Given the description of an element on the screen output the (x, y) to click on. 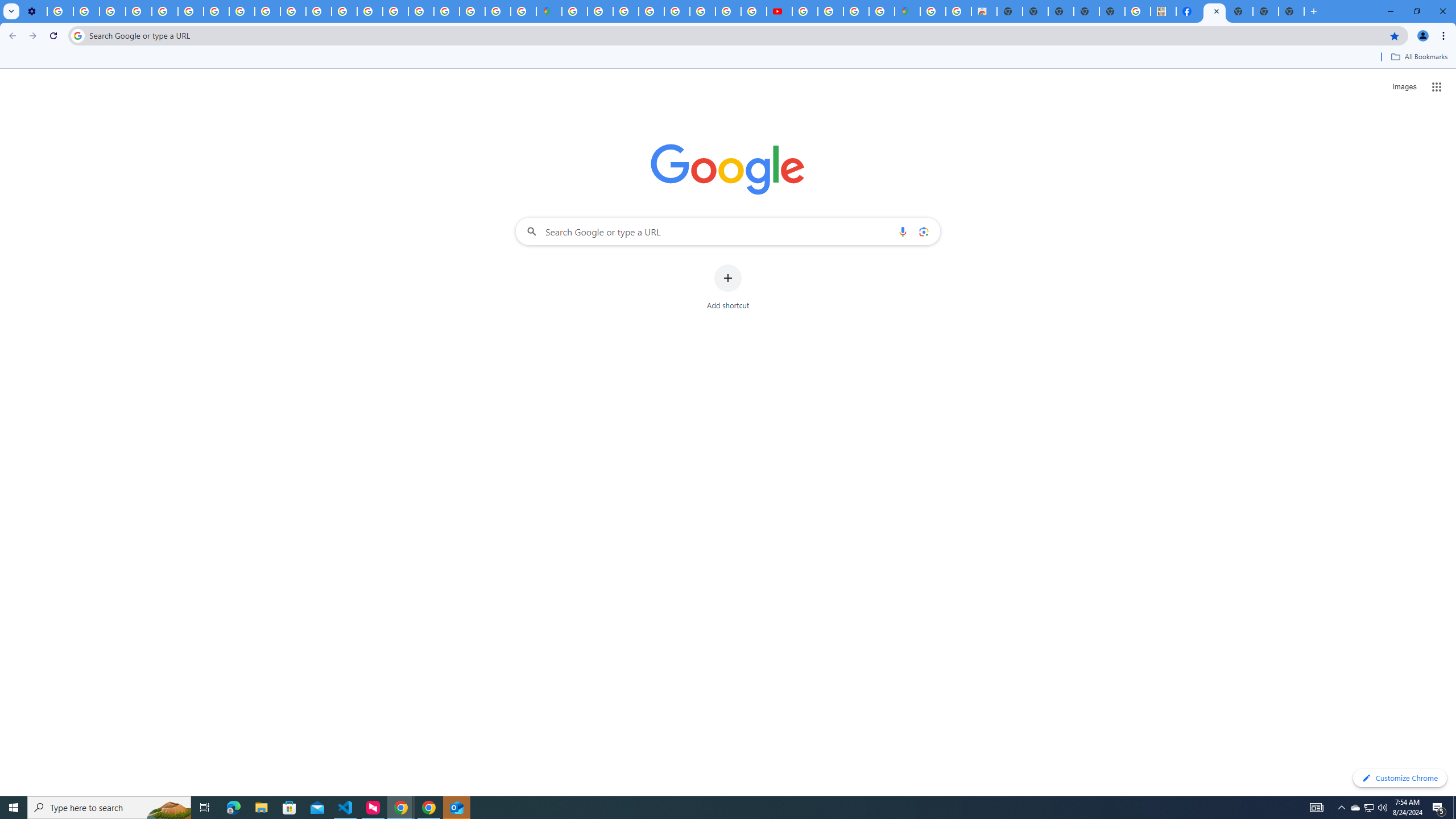
Google Maps (907, 11)
Search Google or type a URL (727, 230)
MILEY CYRUS. (1162, 11)
Sign in - Google Accounts (446, 11)
Google Maps (548, 11)
All Bookmarks (1418, 56)
Subscriptions - YouTube (779, 11)
Chrome Web Store - Shopping (983, 11)
Privacy Help Center - Policies Help (344, 11)
Privacy Help Center - Policies Help (165, 11)
